Given the description of an element on the screen output the (x, y) to click on. 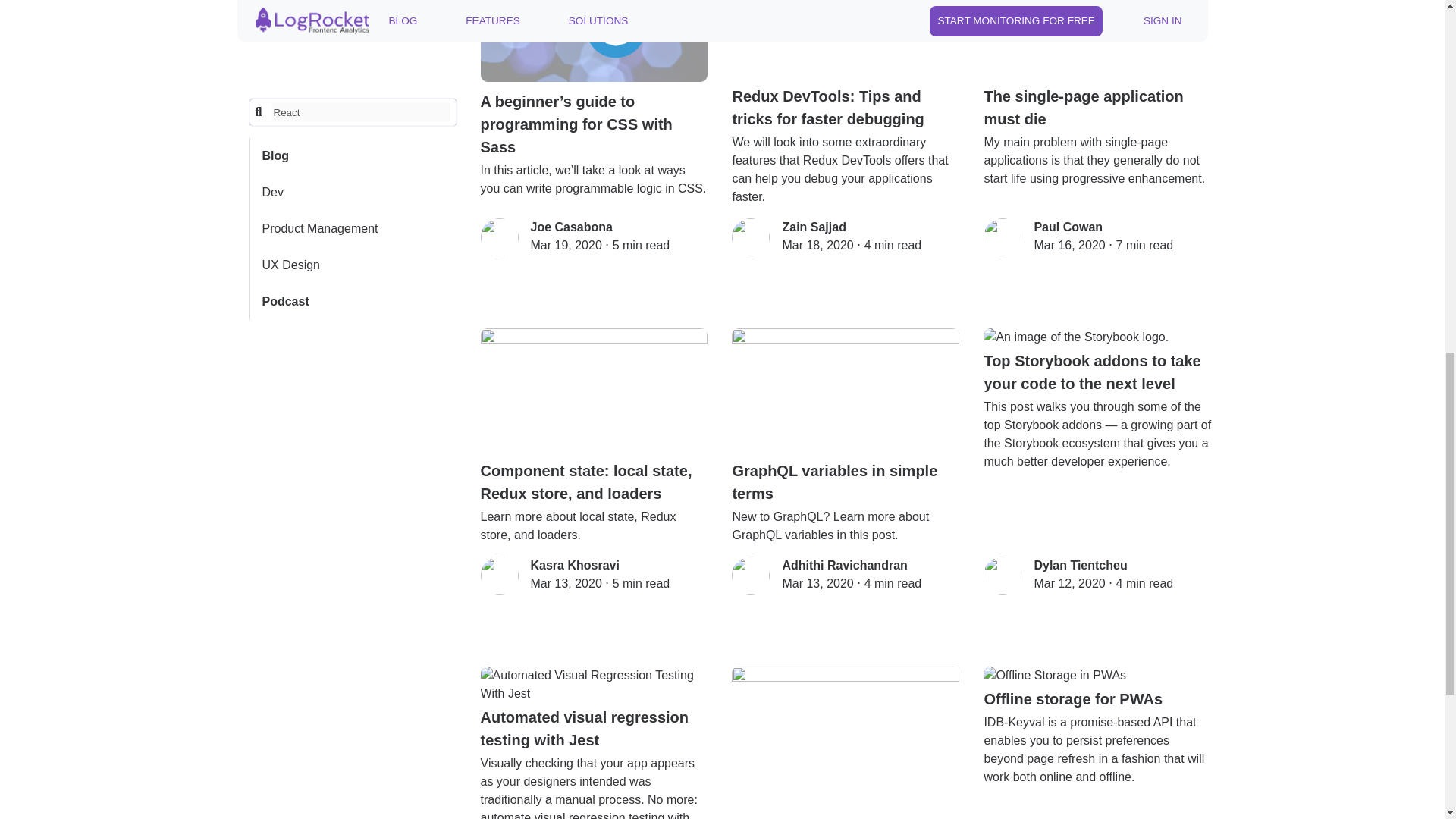
Paul Cowan (1067, 226)
Component state: local state, Redux store, and loaders (593, 416)
Joe Casabona (571, 226)
Redux DevTools: Tips and tricks for faster debugging (845, 65)
Zain Sajjad (813, 226)
Kasra Khosravi (575, 564)
The single-page application must die (1097, 65)
GraphQL variables in simple terms (845, 416)
